Given the description of an element on the screen output the (x, y) to click on. 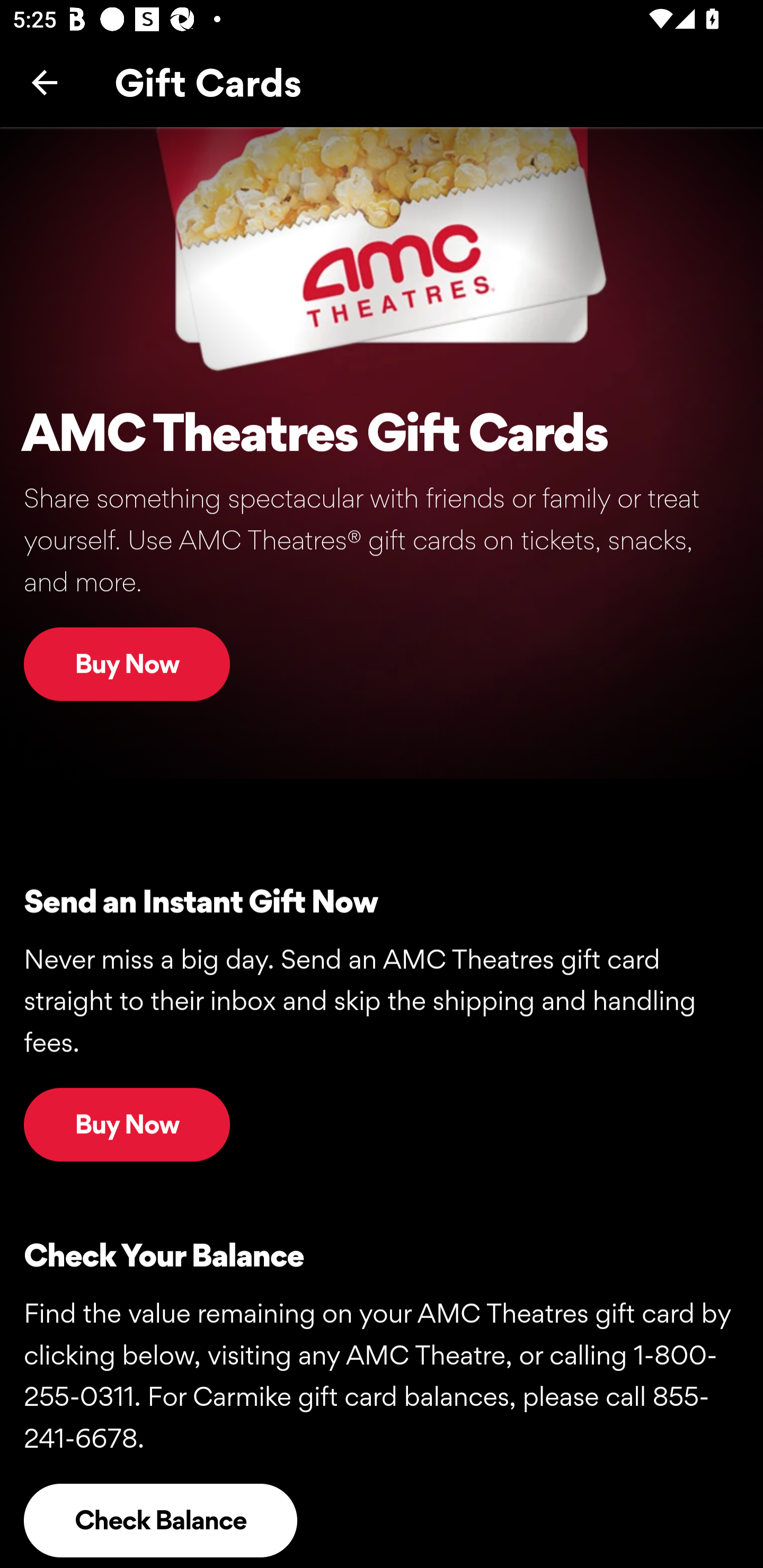
Back (44, 82)
Buy Now (126, 662)
Buy Now (126, 1123)
Check Balance (161, 1520)
